Given the description of an element on the screen output the (x, y) to click on. 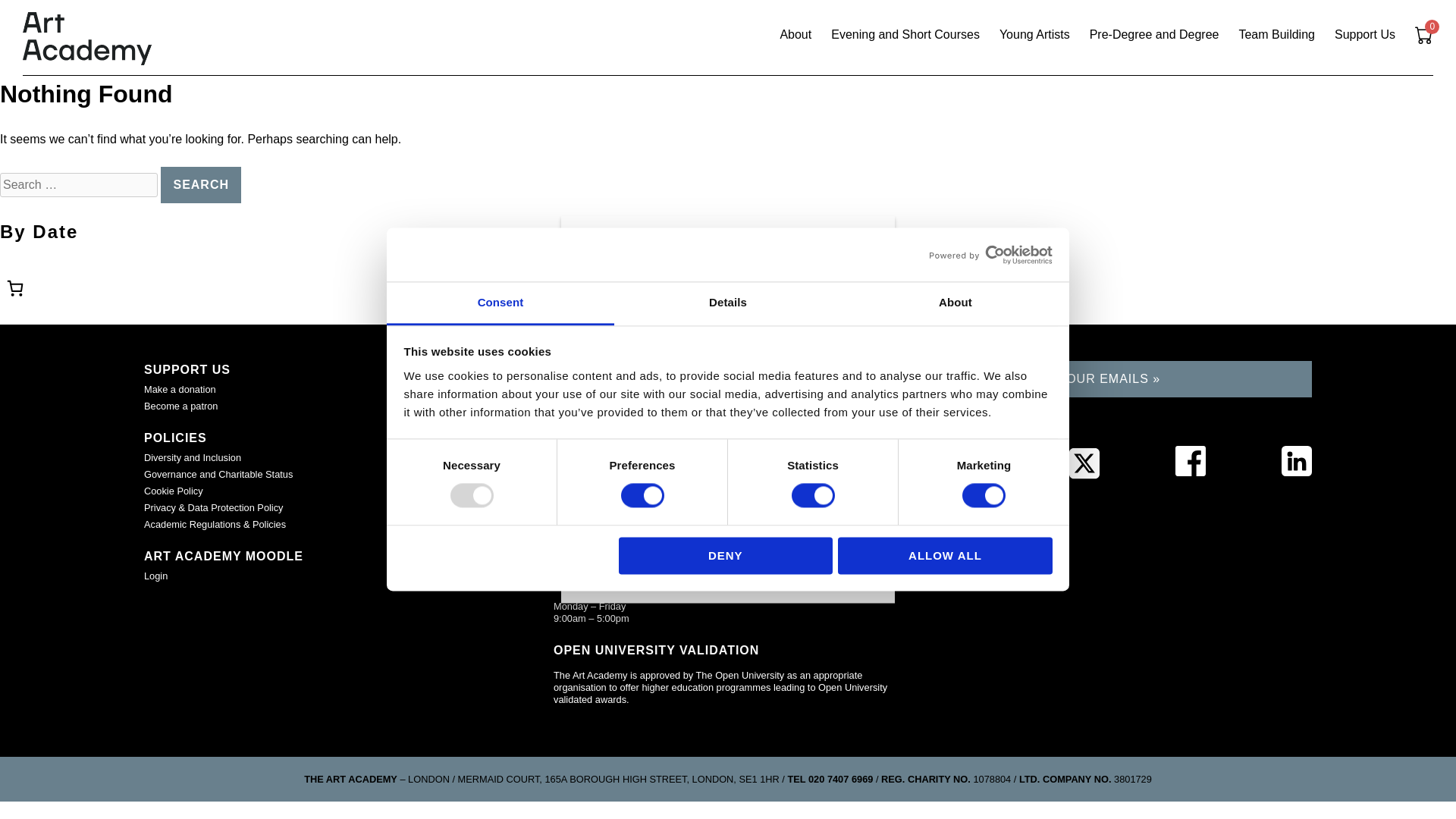
Consent (500, 303)
Sign up (727, 506)
Details (727, 303)
Search (200, 185)
Search (200, 185)
About (954, 303)
